Given the description of an element on the screen output the (x, y) to click on. 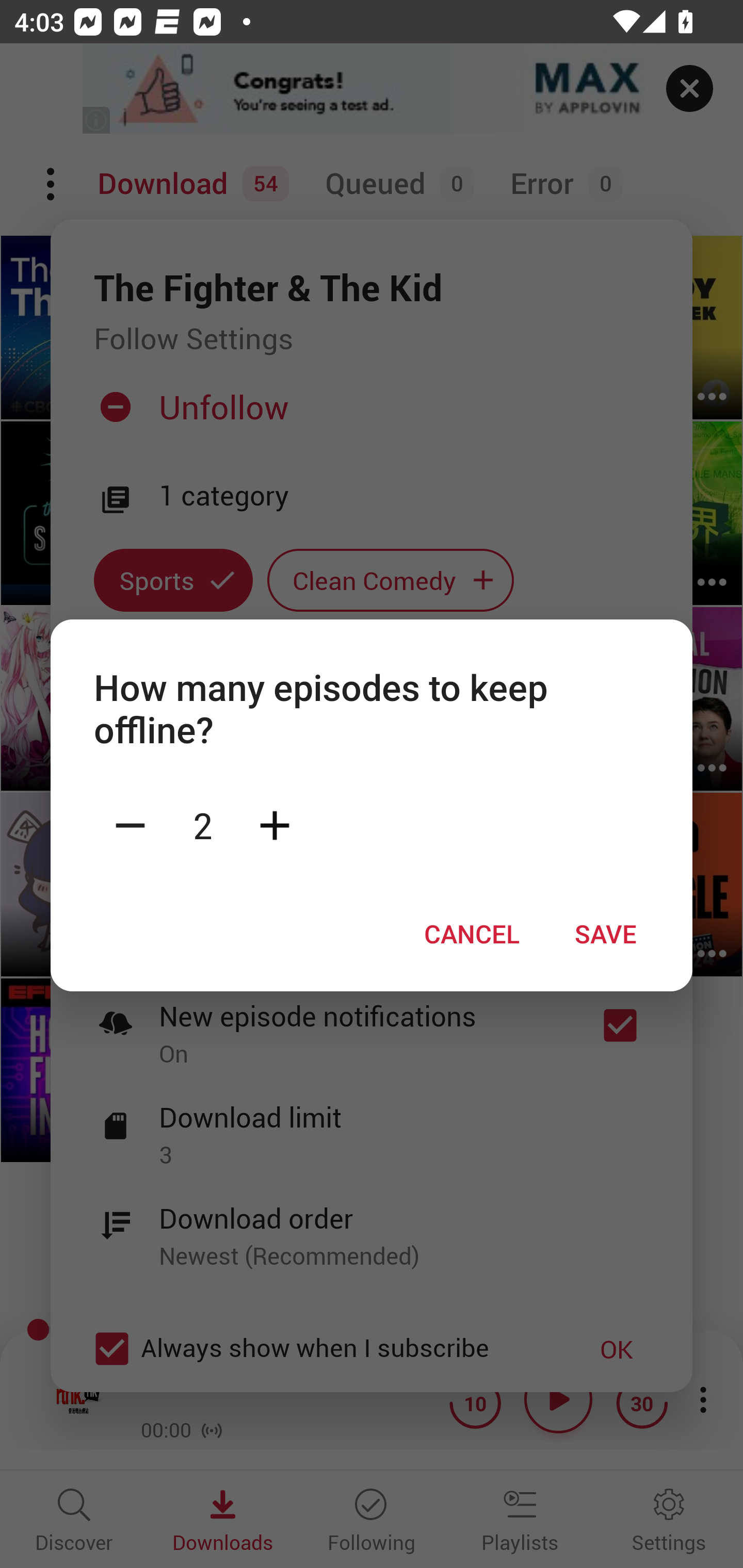
Minus (129, 824)
Plus (274, 824)
CANCEL (470, 933)
SAVE (605, 933)
